Given the description of an element on the screen output the (x, y) to click on. 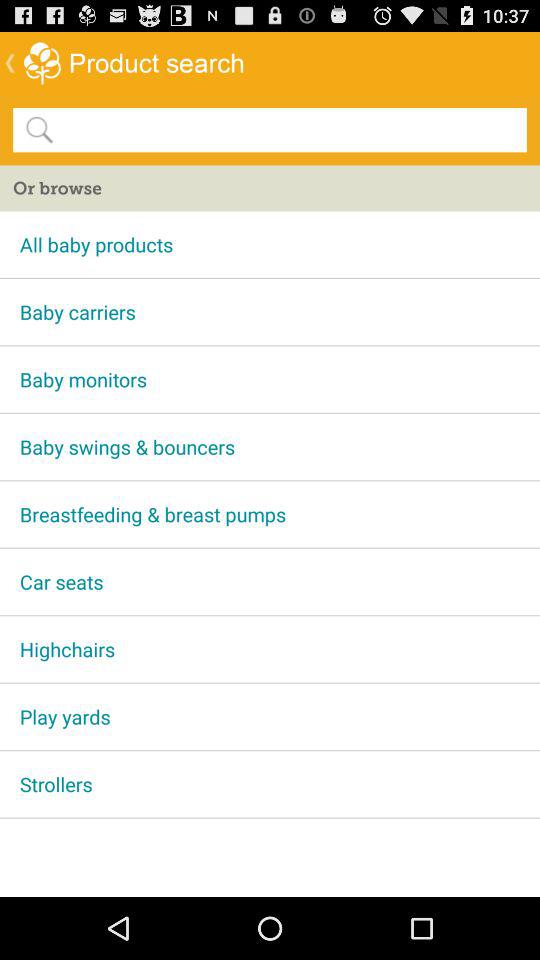
click item below the or browse (270, 244)
